Given the description of an element on the screen output the (x, y) to click on. 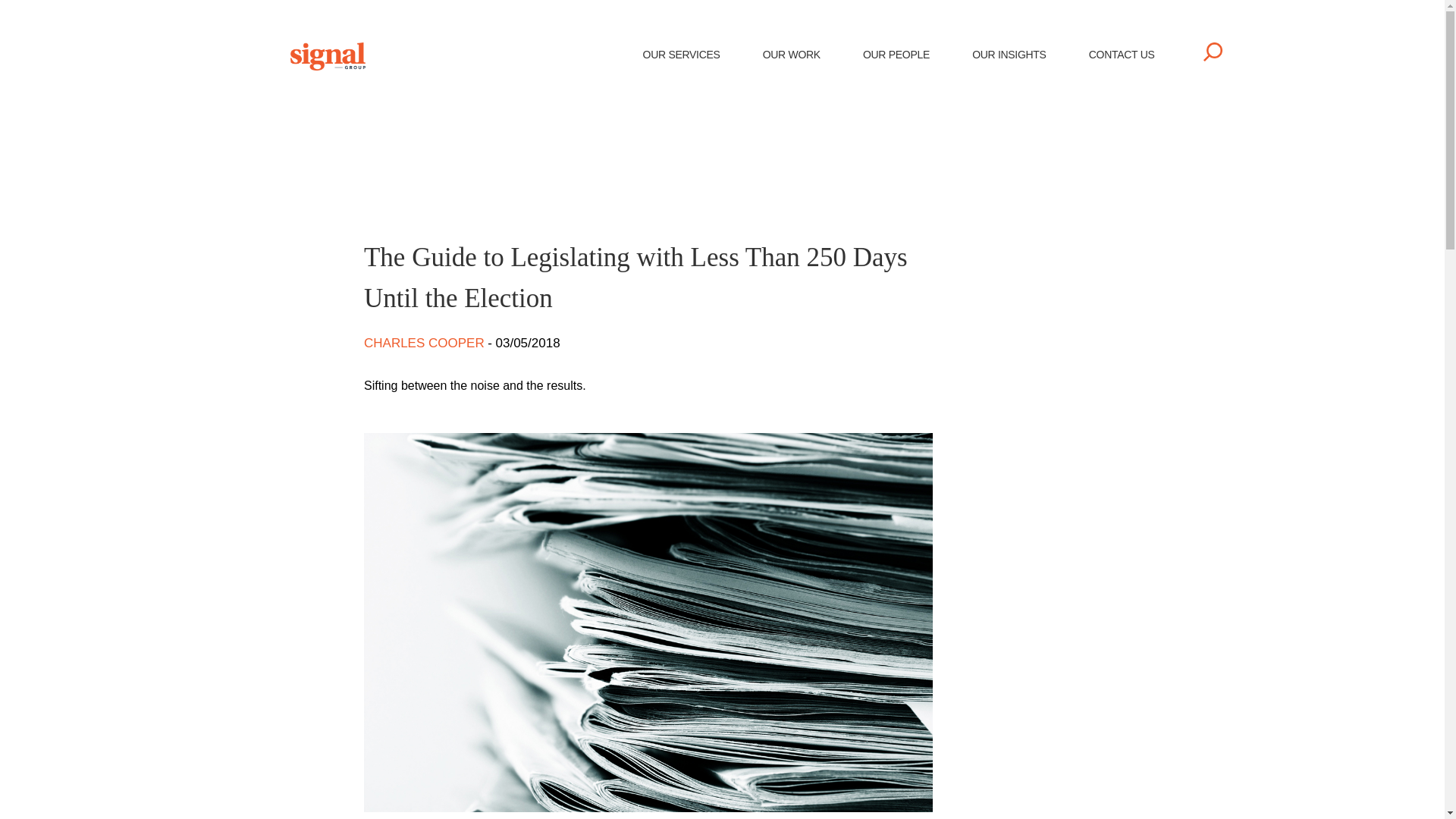
OUR WORK (791, 54)
OUR SERVICES (681, 54)
OUR INSIGHTS (1009, 54)
CHARLES COOPER (425, 342)
CONTACT US (1121, 54)
OUR PEOPLE (896, 54)
